Given the description of an element on the screen output the (x, y) to click on. 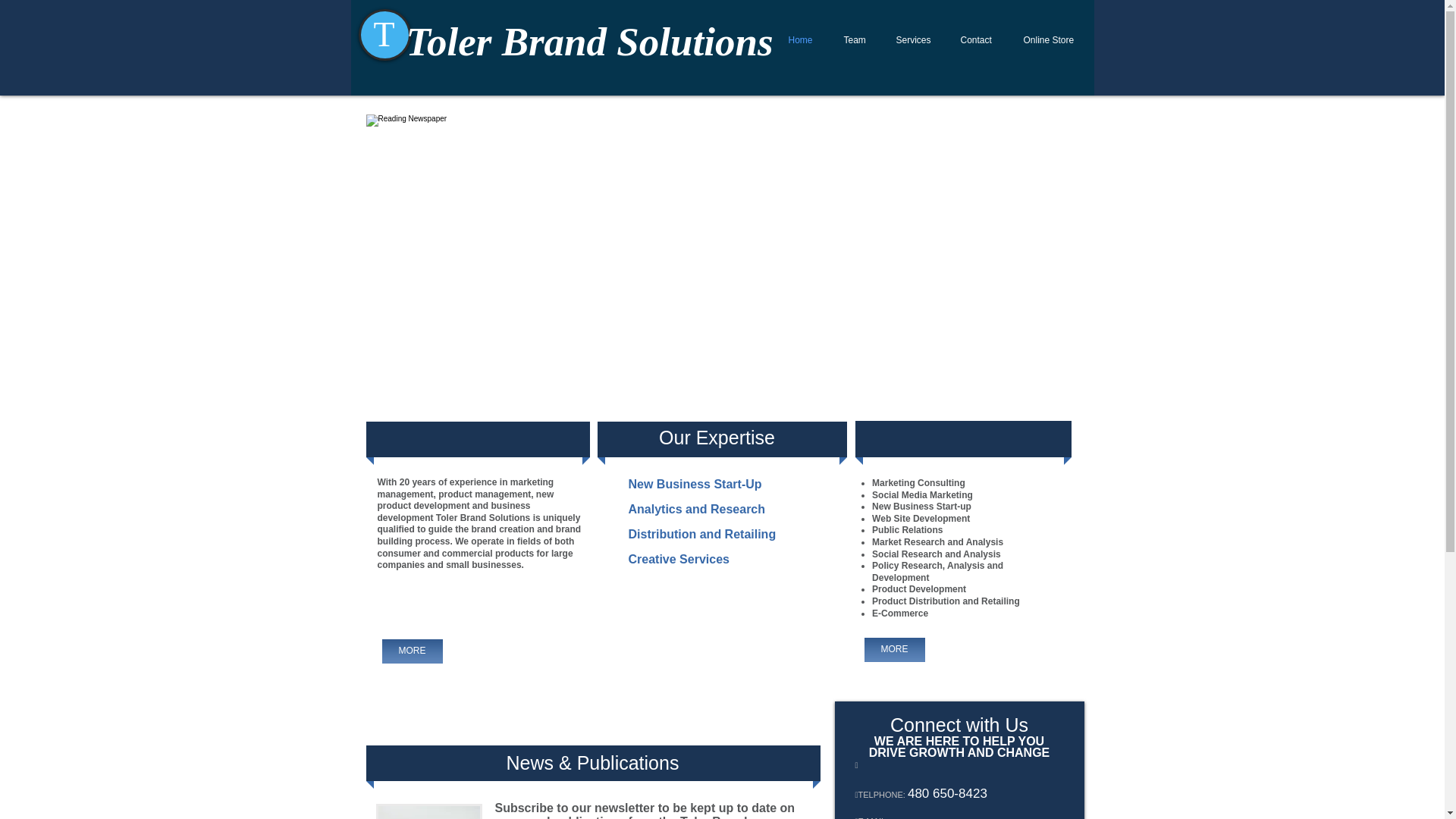
Contact (975, 40)
Toler Brand Solutions (589, 41)
Creative Services (679, 559)
New Business Start-Up (697, 484)
Analytics and Research (697, 509)
Distribution and Retailing (705, 534)
Services (911, 40)
Online Store (1048, 40)
Team (854, 40)
MORE (894, 649)
MORE (411, 651)
Home (799, 40)
